Given the description of an element on the screen output the (x, y) to click on. 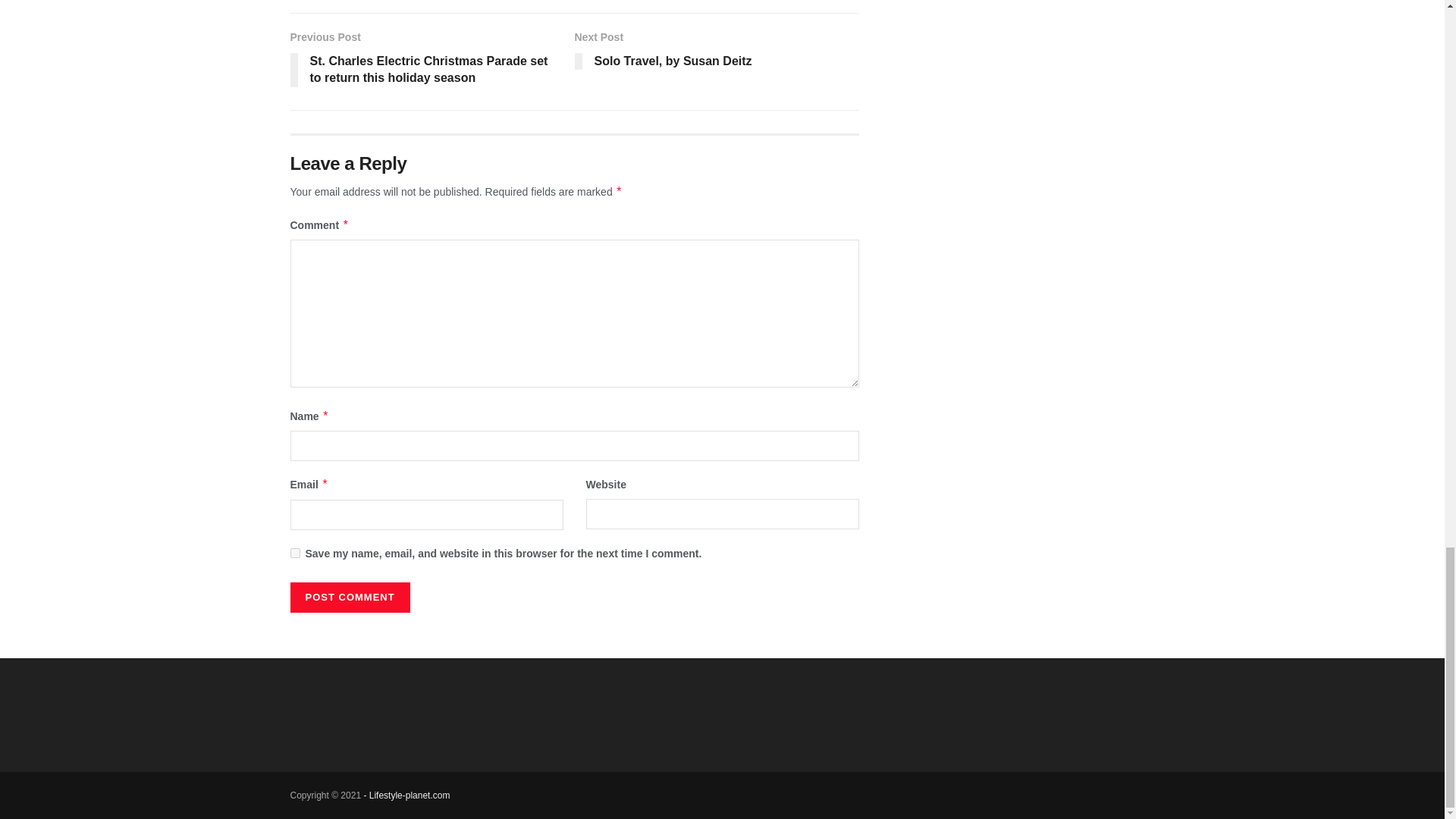
Post Comment (349, 597)
Post Comment (717, 52)
yes (349, 597)
